Given the description of an element on the screen output the (x, y) to click on. 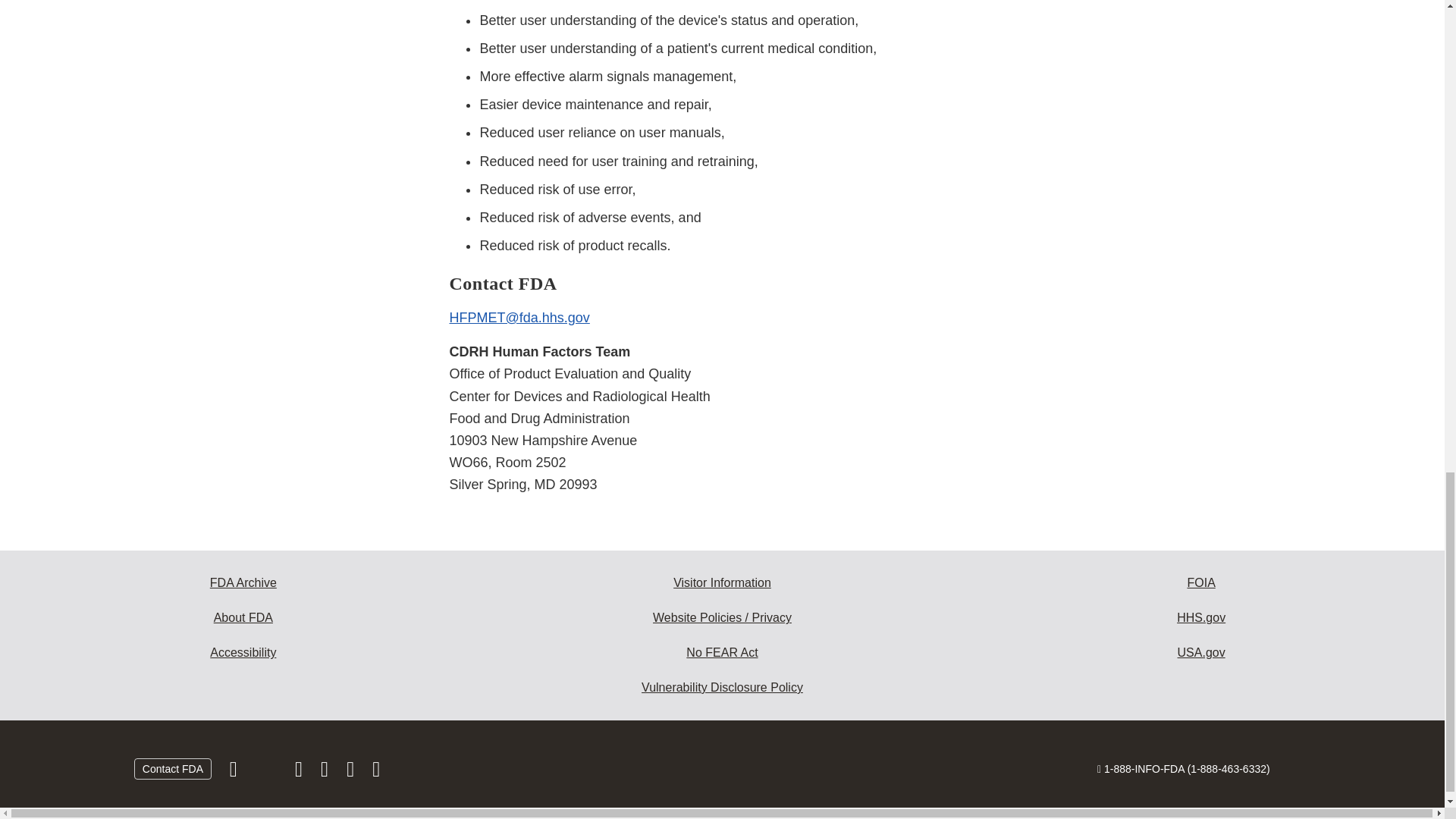
Follow FDA on Facebook (234, 772)
Subscribe to FDA RSS feeds (376, 772)
Follow FDA on LinkedIn (326, 772)
Follow FDA on X (266, 772)
View FDA videos on YouTube (352, 772)
Freedom of Information Act (1200, 582)
Follow FDA on Instagram (299, 772)
Health and Human Services (1200, 617)
